Given the description of an element on the screen output the (x, y) to click on. 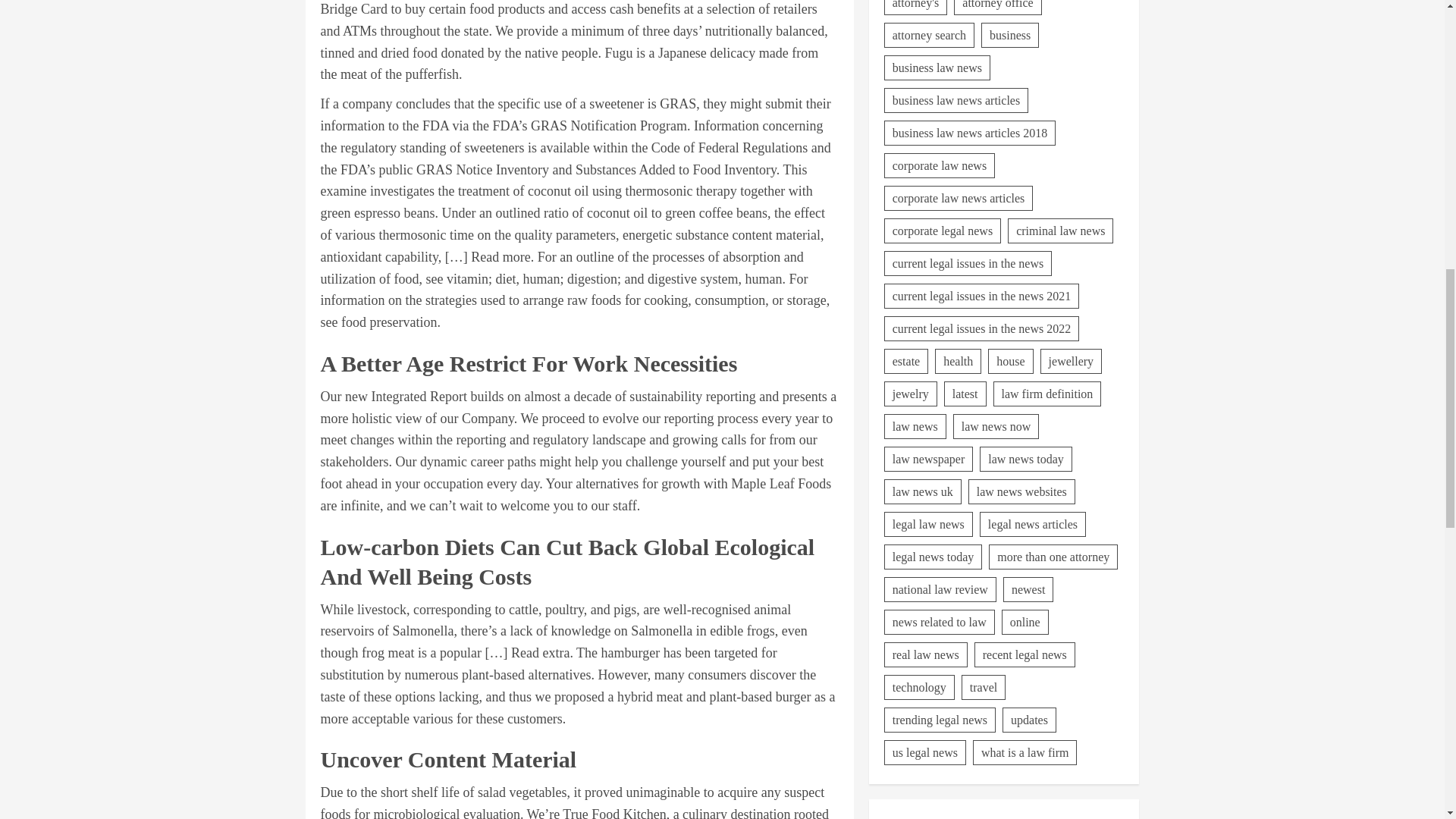
business law news articles (955, 16)
business law news articles 2018 (969, 48)
